Given the description of an element on the screen output the (x, y) to click on. 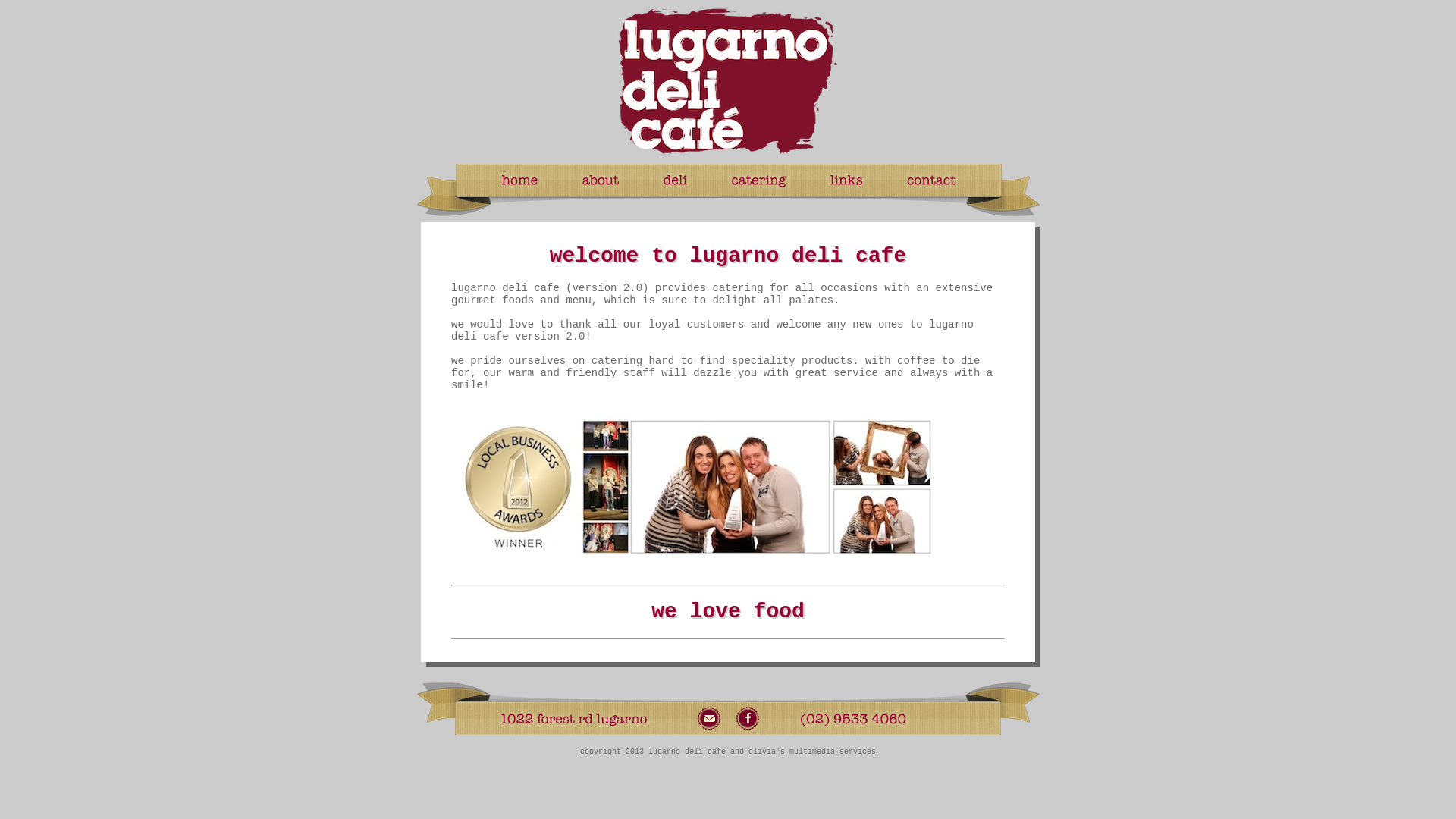
olivia's multimedia services Element type: text (811, 751)
